Given the description of an element on the screen output the (x, y) to click on. 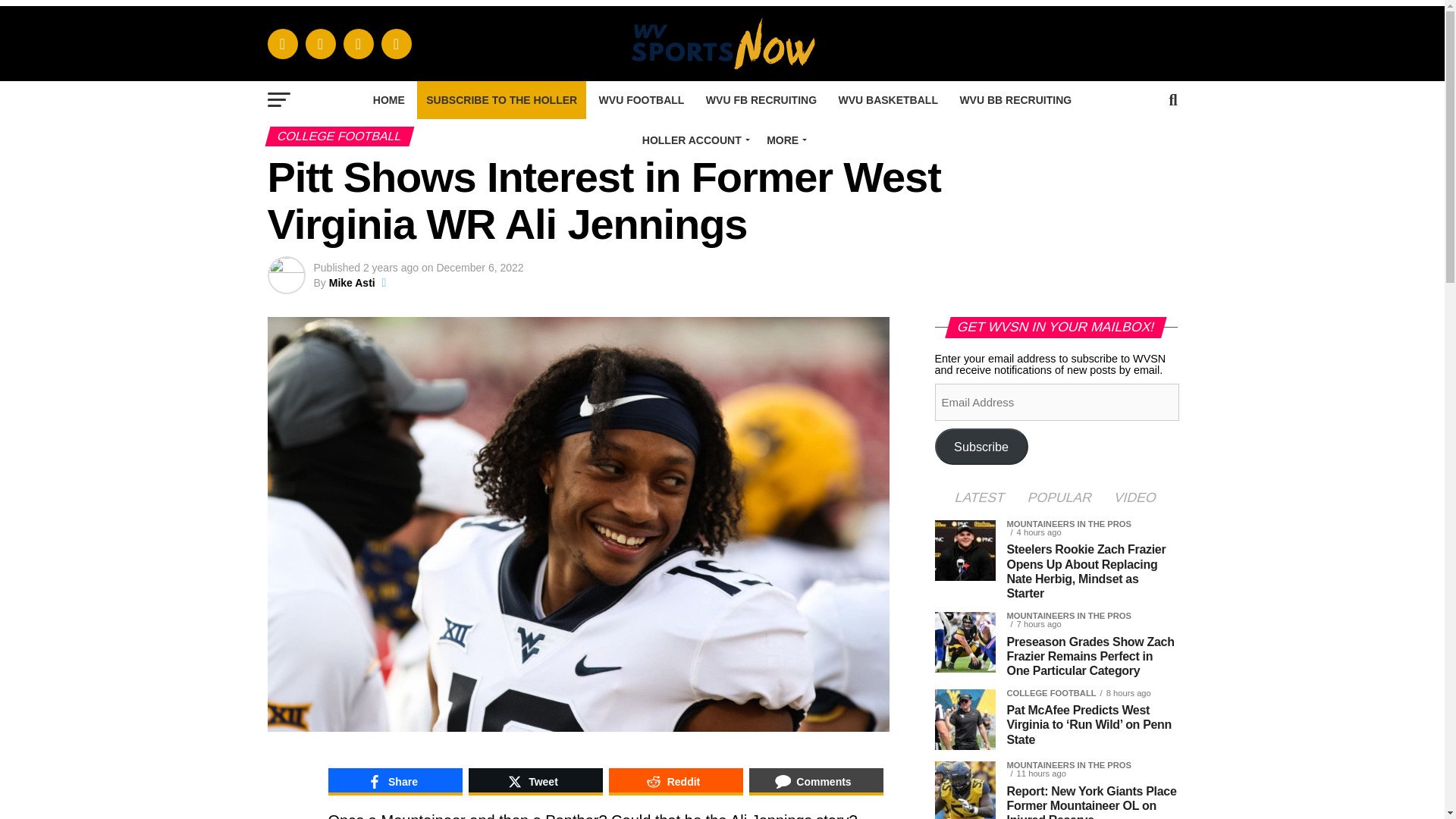
Share on Comments (816, 781)
Share on Share (394, 781)
Share on Tweet (535, 781)
Posts by Mike Asti (352, 282)
Share on Reddit (675, 781)
